Given the description of an element on the screen output the (x, y) to click on. 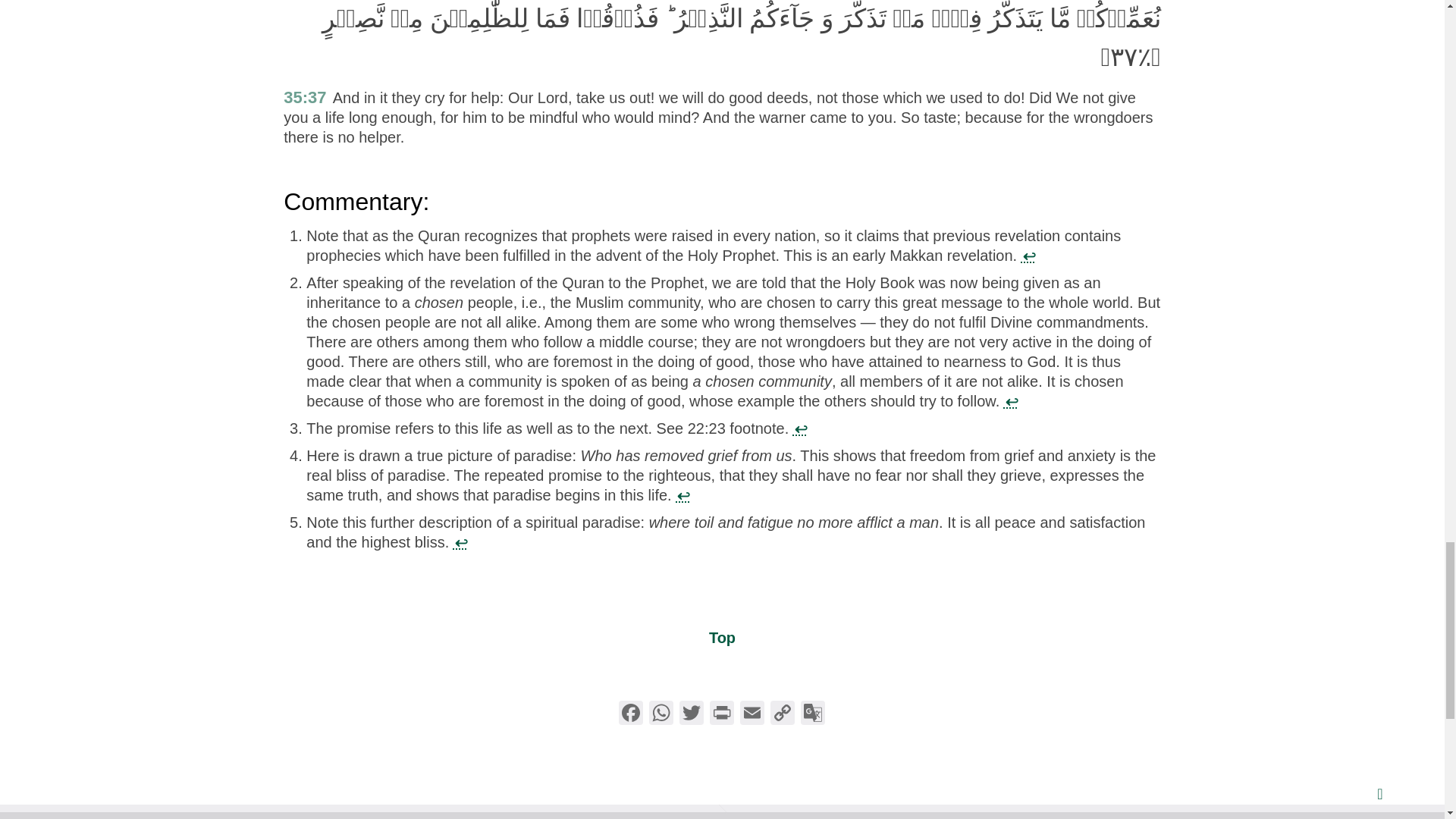
Facebook (630, 714)
WhatsApp (661, 714)
